Given the description of an element on the screen output the (x, y) to click on. 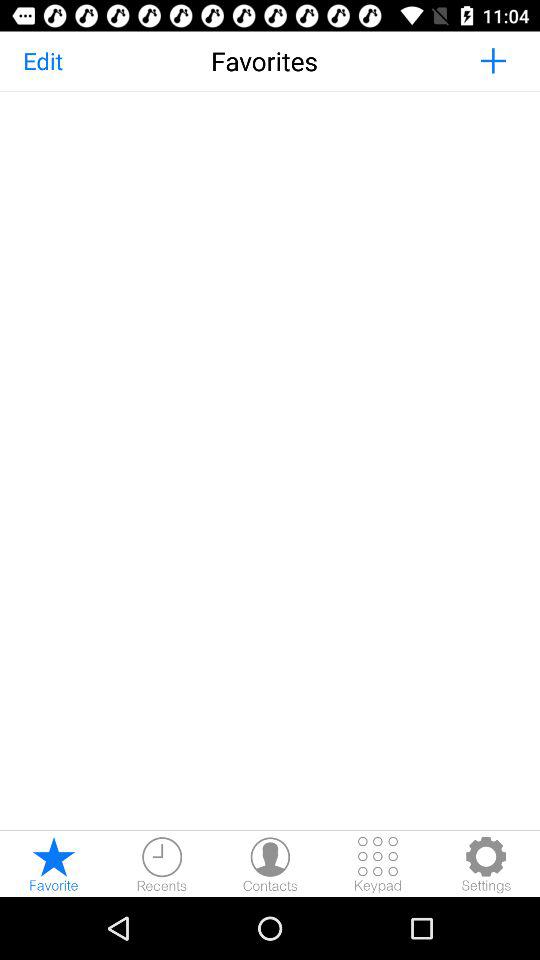
show favorites (53, 864)
